Given the description of an element on the screen output the (x, y) to click on. 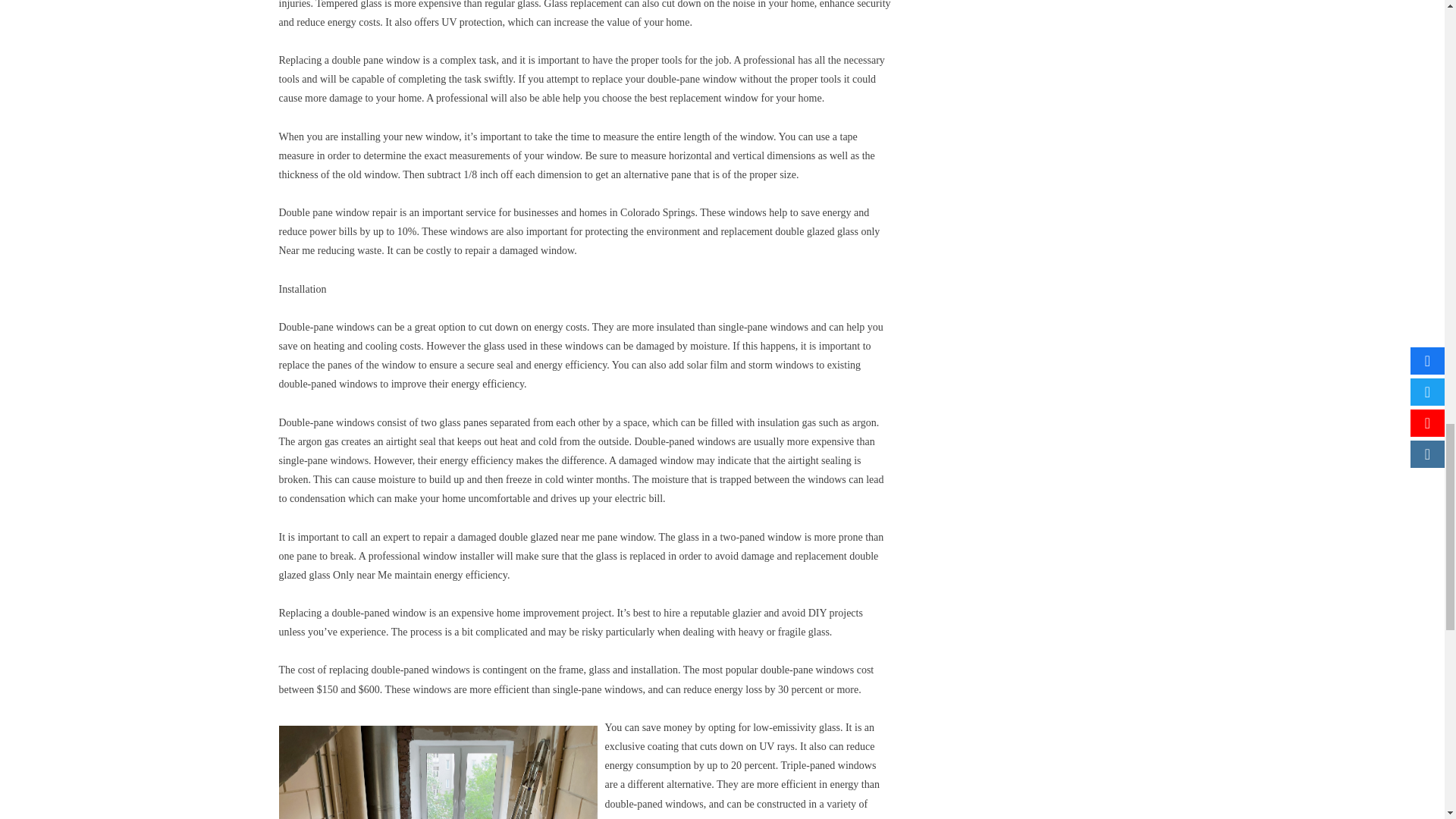
double glazed near me (546, 536)
replacement double glazed glass Only near Me (579, 565)
replacement double glazed glass only Near me (579, 241)
